Given the description of an element on the screen output the (x, y) to click on. 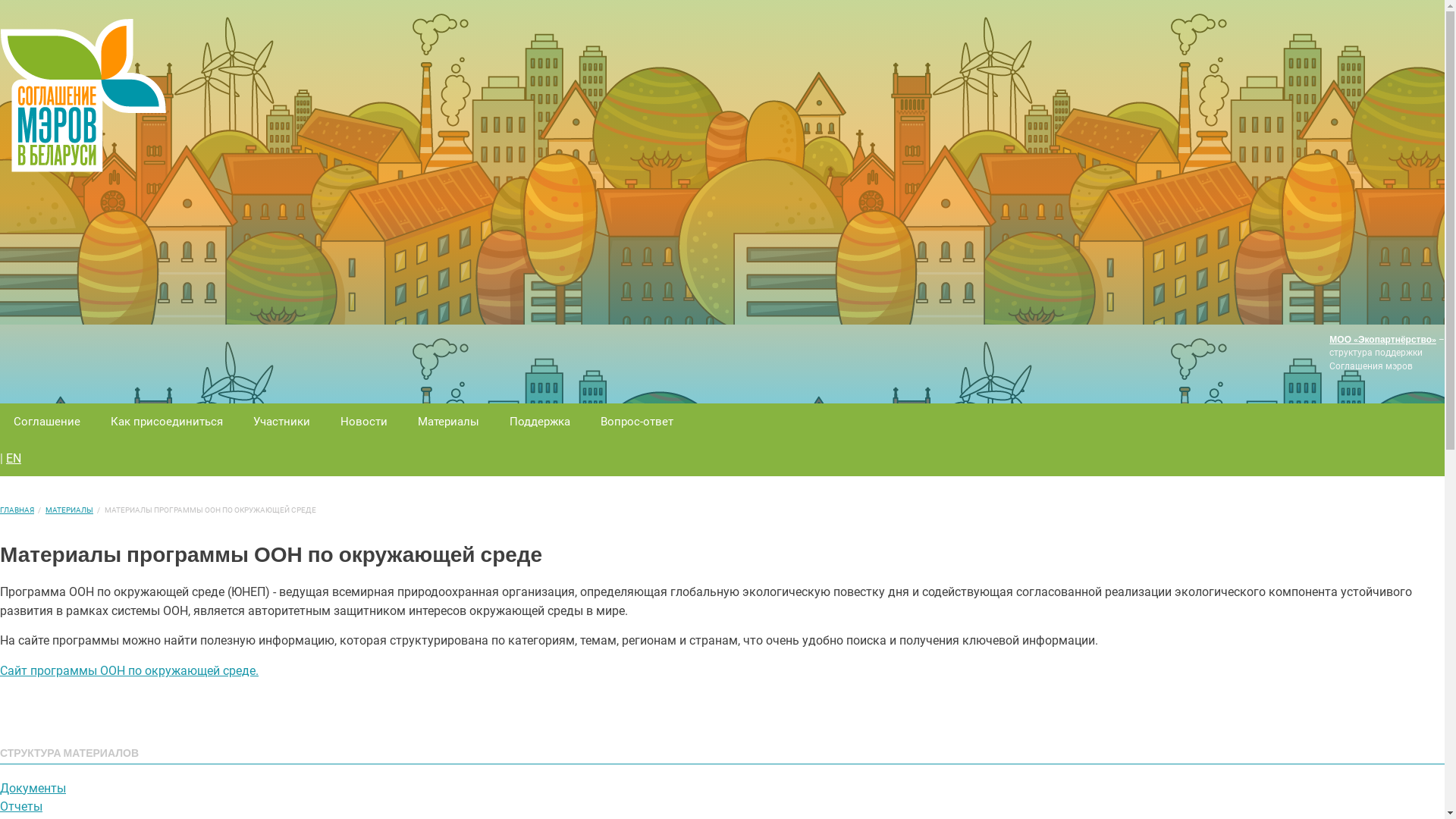
EN Element type: text (13, 458)
